Given the description of an element on the screen output the (x, y) to click on. 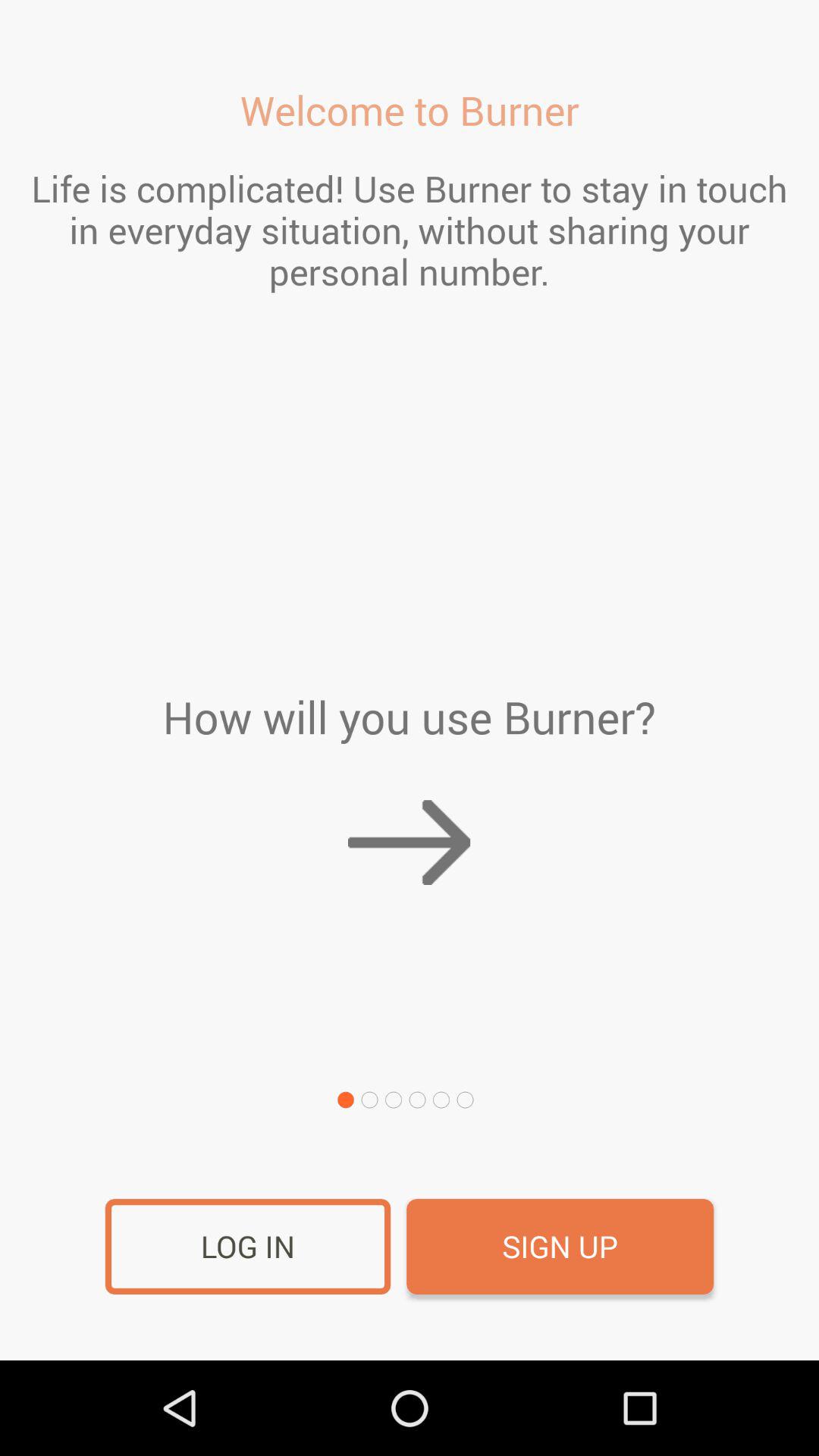
swipe to the log in item (247, 1246)
